Given the description of an element on the screen output the (x, y) to click on. 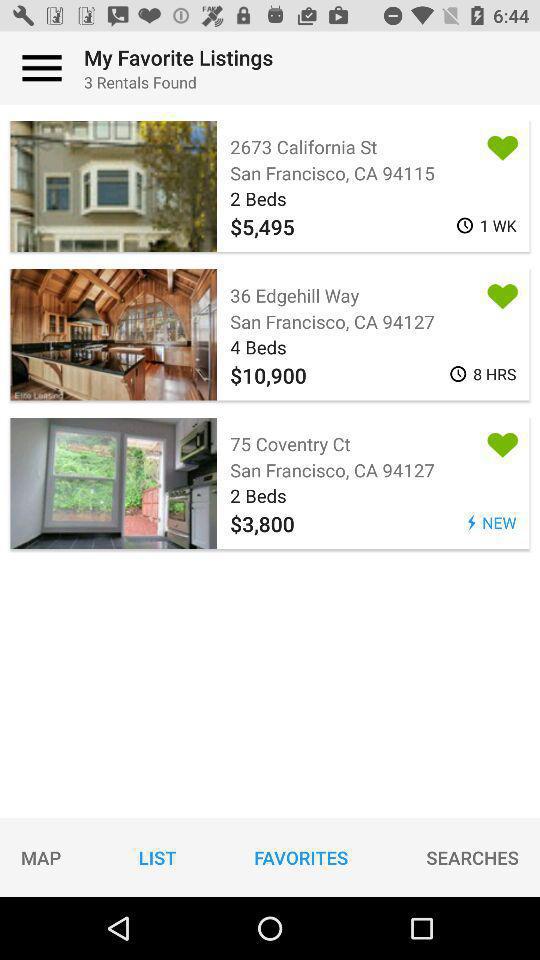
select the item next to the list icon (301, 857)
